Given the description of an element on the screen output the (x, y) to click on. 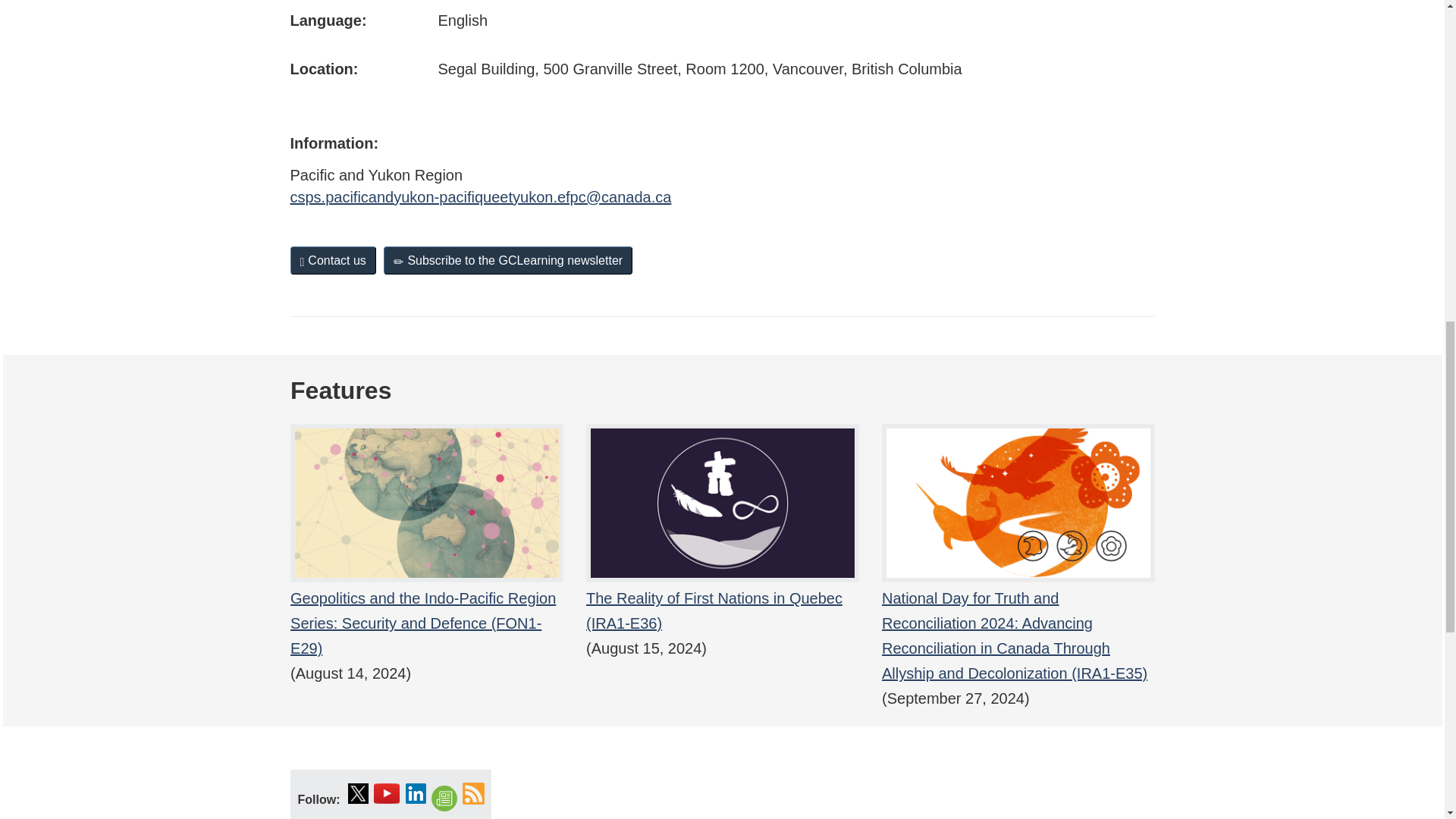
YouTube (386, 793)
LinkedIn (415, 793)
RSS (472, 793)
Contact us (332, 260)
GCLearning newsletter (443, 798)
GCLearning newsletter (443, 798)
RSS (472, 793)
YouTube (386, 793)
LinkedIn (415, 793)
Twitter (357, 793)
Twitter (357, 793)
Subscribe to the GCLearning newsletter (507, 260)
